Given the description of an element on the screen output the (x, y) to click on. 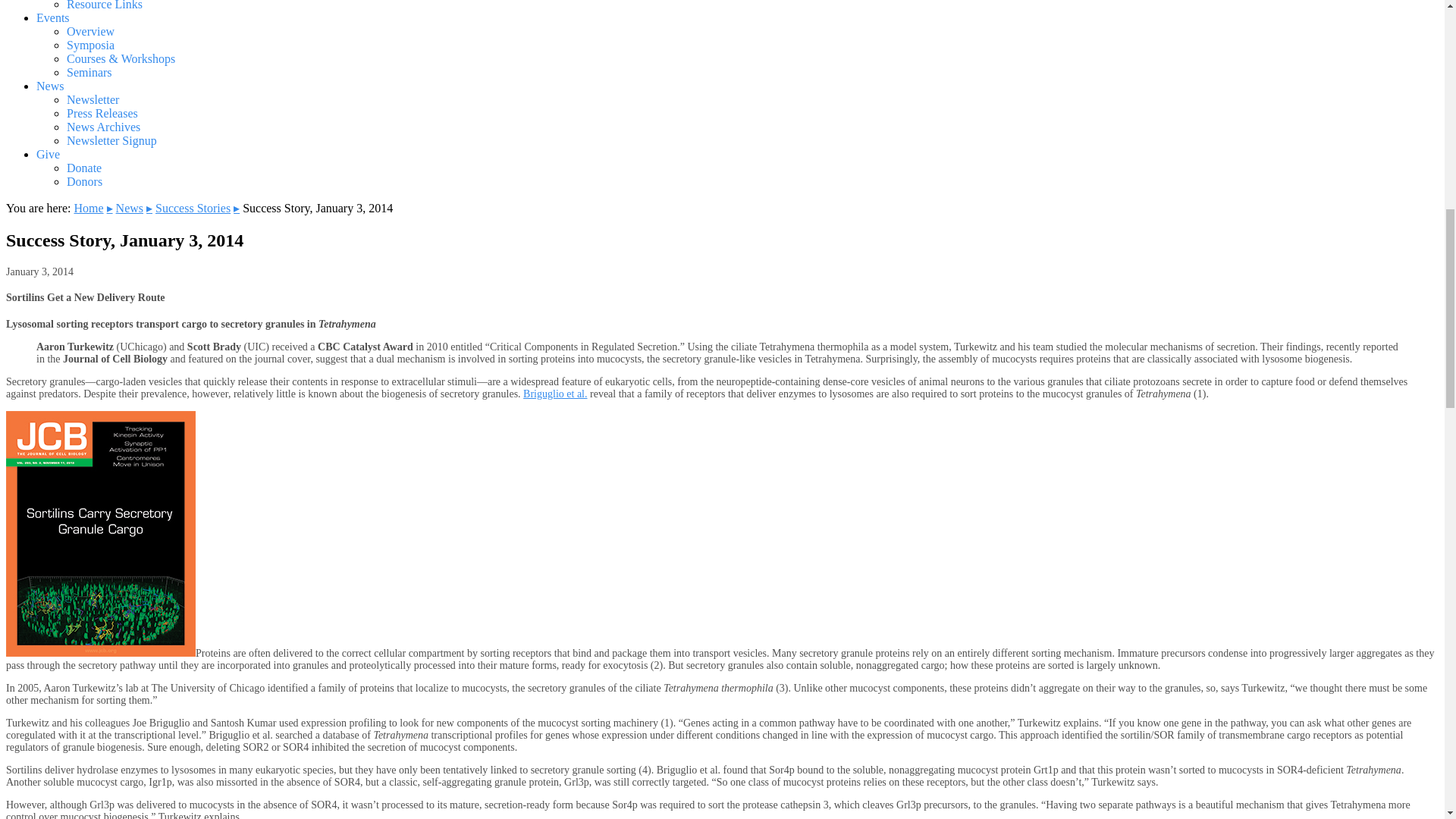
News (50, 85)
Seminars (89, 72)
Resource Links (104, 5)
Symposia (90, 44)
Events (52, 17)
Overview (90, 31)
Newsletter (92, 99)
